Given the description of an element on the screen output the (x, y) to click on. 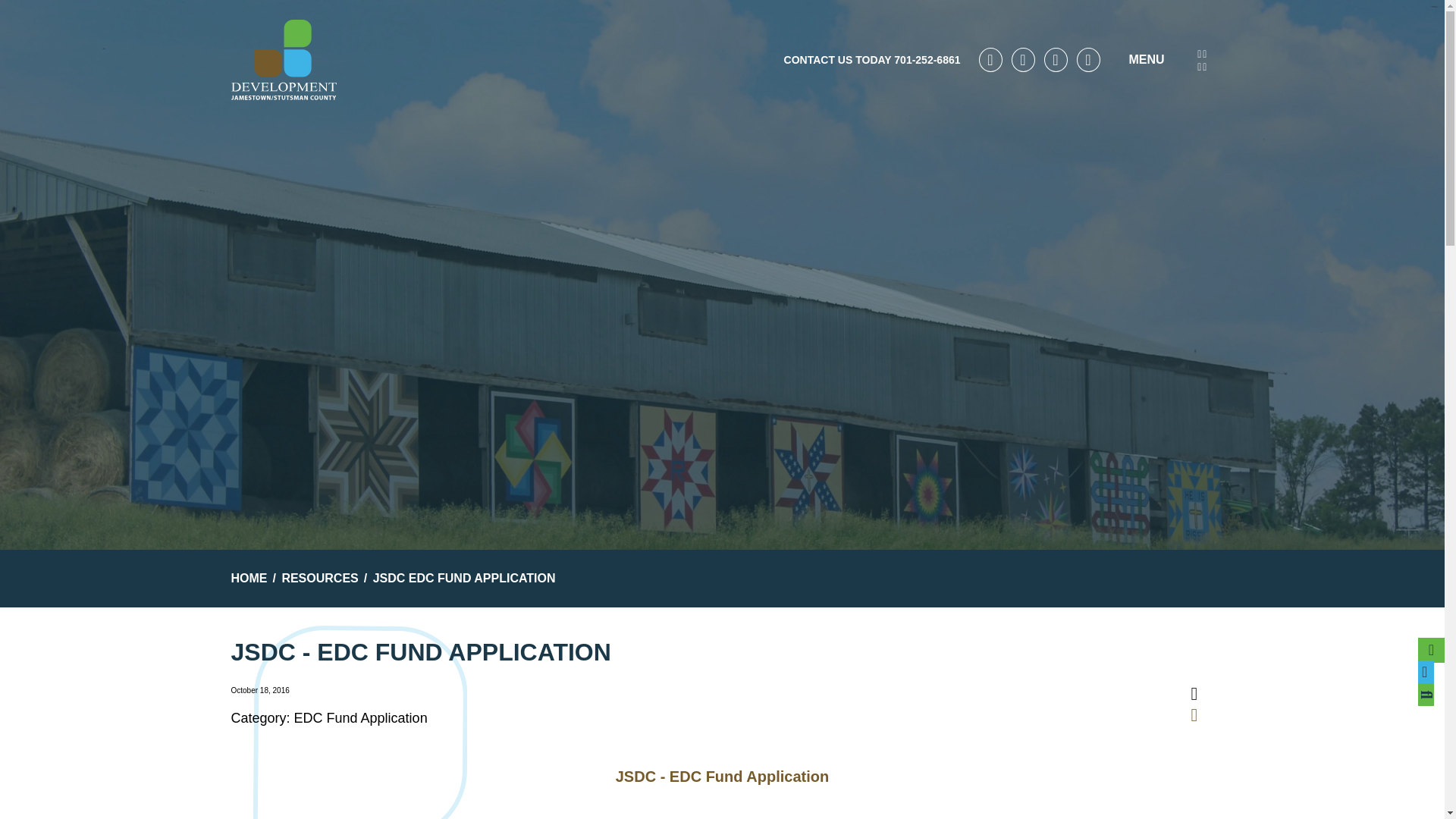
Instagram (1088, 59)
Facebook (989, 59)
Linkedin (1055, 59)
X-twitter (1023, 59)
701-252-6861 (926, 60)
